Given the description of an element on the screen output the (x, y) to click on. 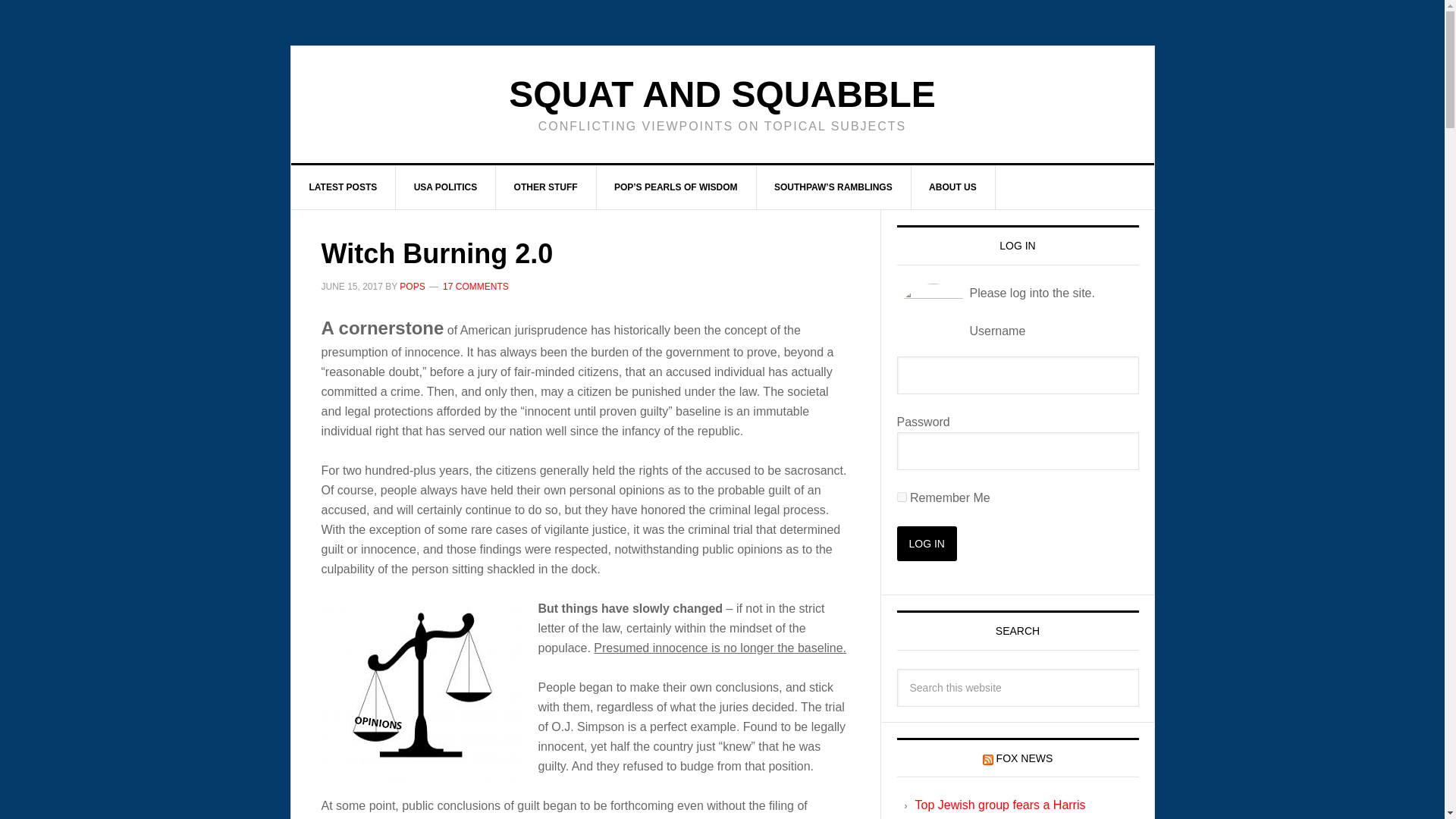
USA POLITICS (446, 187)
OTHER STUFF (546, 187)
LATEST POSTS (343, 187)
forever (900, 497)
17 COMMENTS (475, 286)
Log In (926, 543)
ABOUT US (953, 187)
SQUAT AND SQUABBLE (722, 94)
POPS (411, 286)
